Given the description of an element on the screen output the (x, y) to click on. 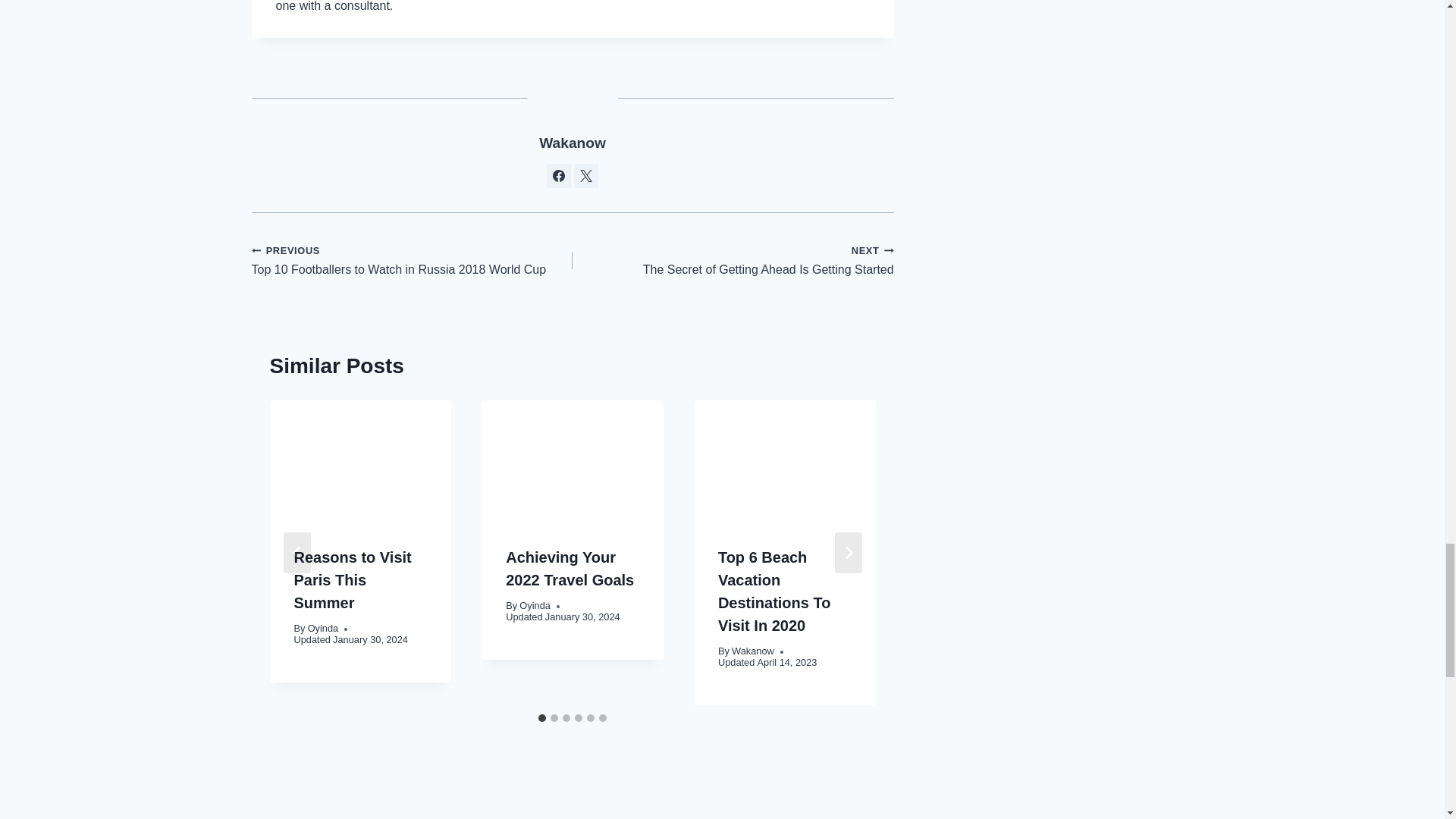
Follow Wakanow on Facebook (558, 175)
Posts by Wakanow (571, 142)
Follow Wakanow on X formerly Twitter (585, 175)
